Given the description of an element on the screen output the (x, y) to click on. 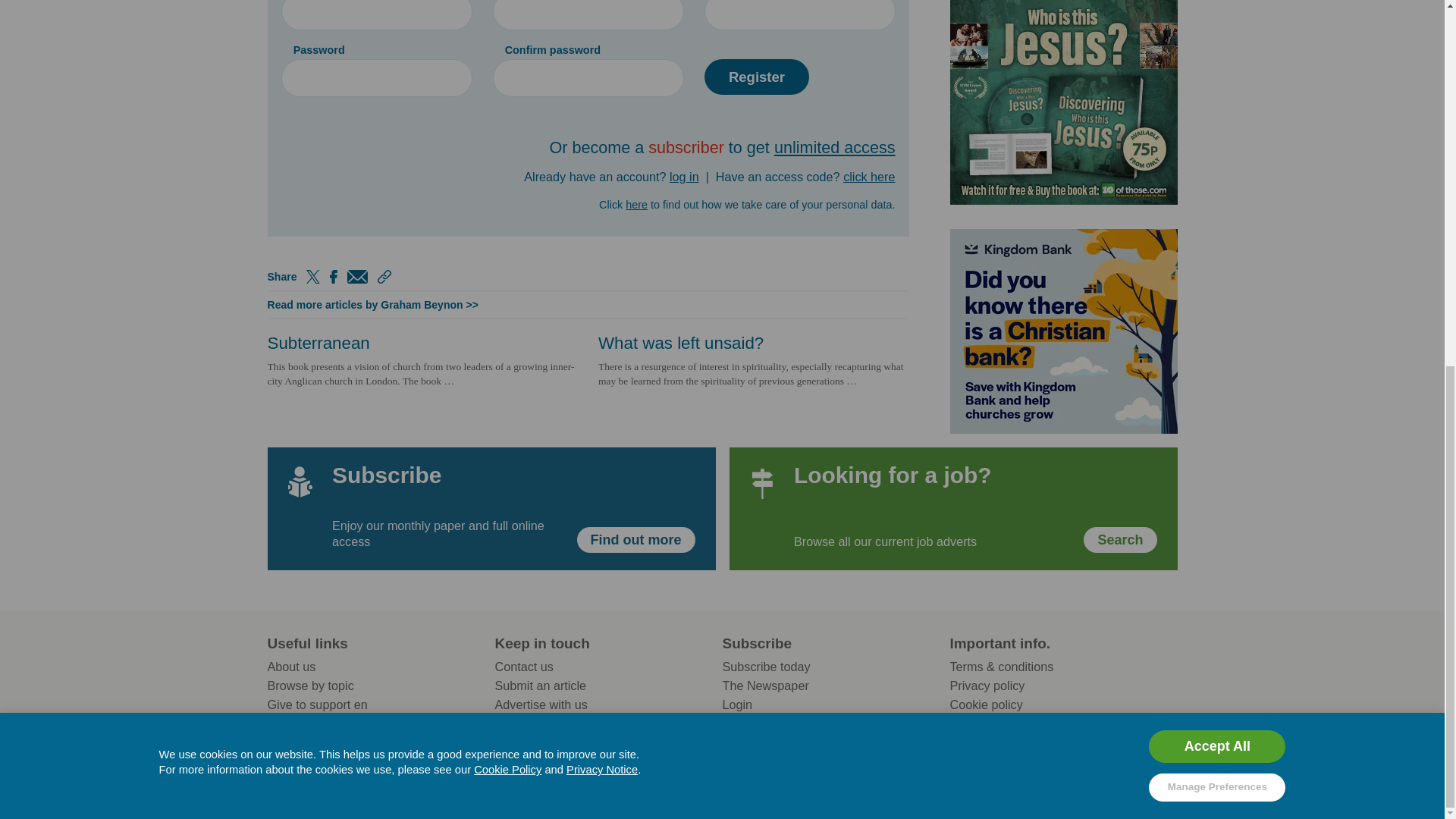
log in (683, 176)
Register (756, 76)
click here (869, 176)
here (636, 203)
unlimited access (834, 147)
